Given the description of an element on the screen output the (x, y) to click on. 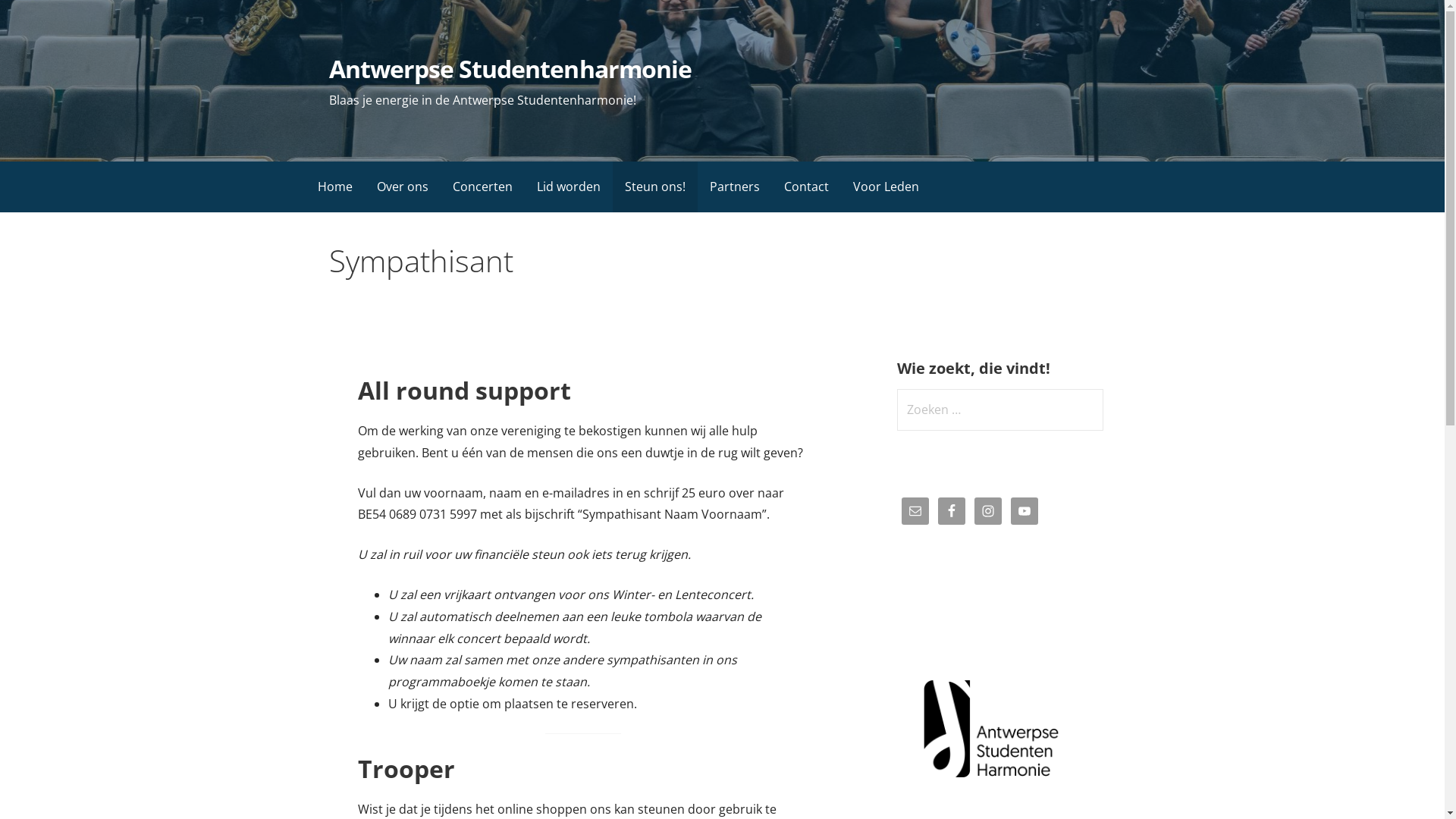
Zoeken Element type: text (32, 15)
Steun ons! Element type: text (654, 186)
Antwerpse Studentenharmonie Element type: text (510, 68)
Over ons Element type: text (401, 186)
Voor Leden Element type: text (885, 186)
Home Element type: text (334, 186)
Contact Element type: text (805, 186)
Lid worden Element type: text (568, 186)
Partners Element type: text (734, 186)
Concerten Element type: text (481, 186)
